Given the description of an element on the screen output the (x, y) to click on. 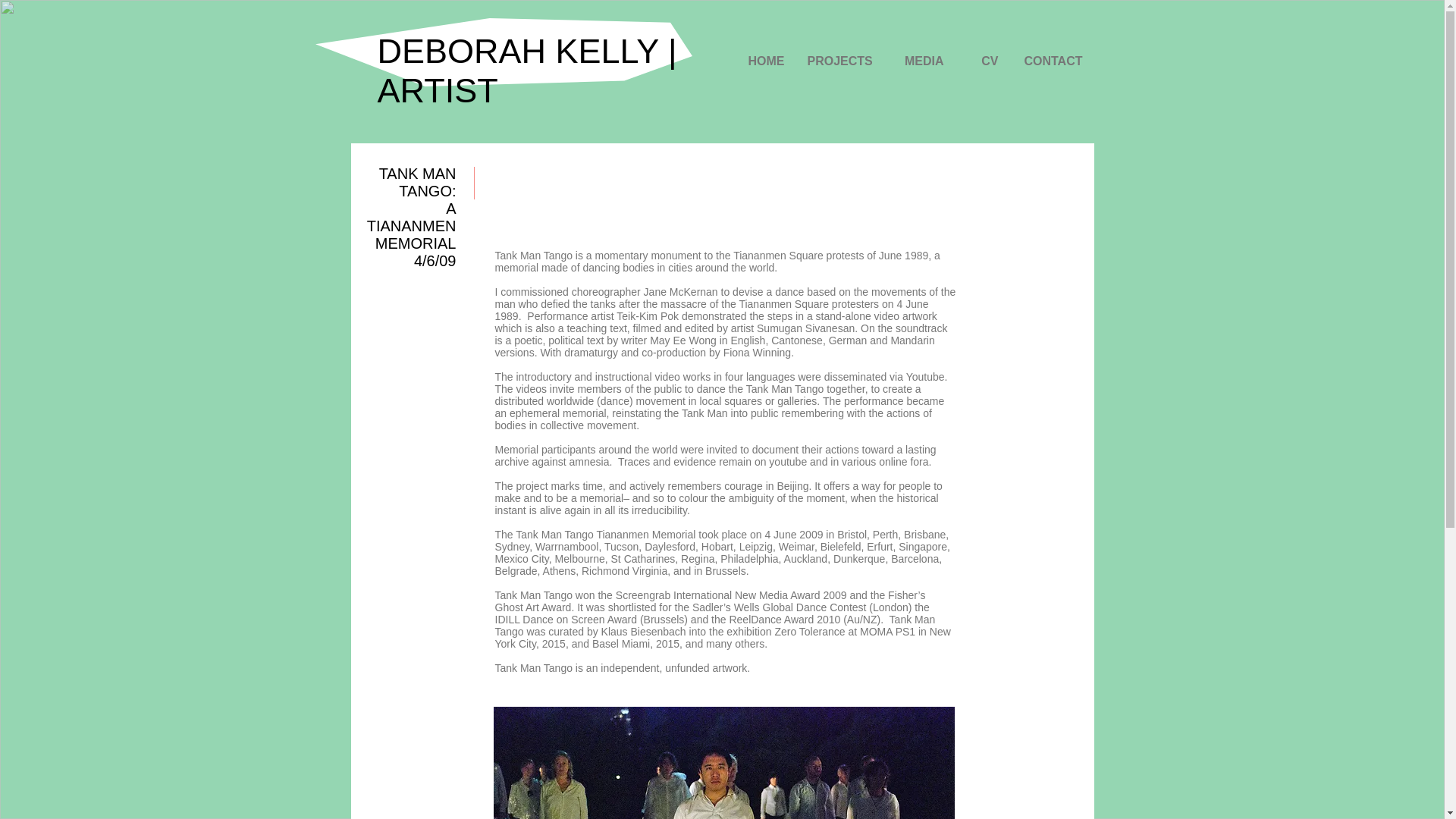
CONTACT (1052, 60)
HOME (761, 60)
MEDIA (919, 60)
CV (982, 60)
